Given the description of an element on the screen output the (x, y) to click on. 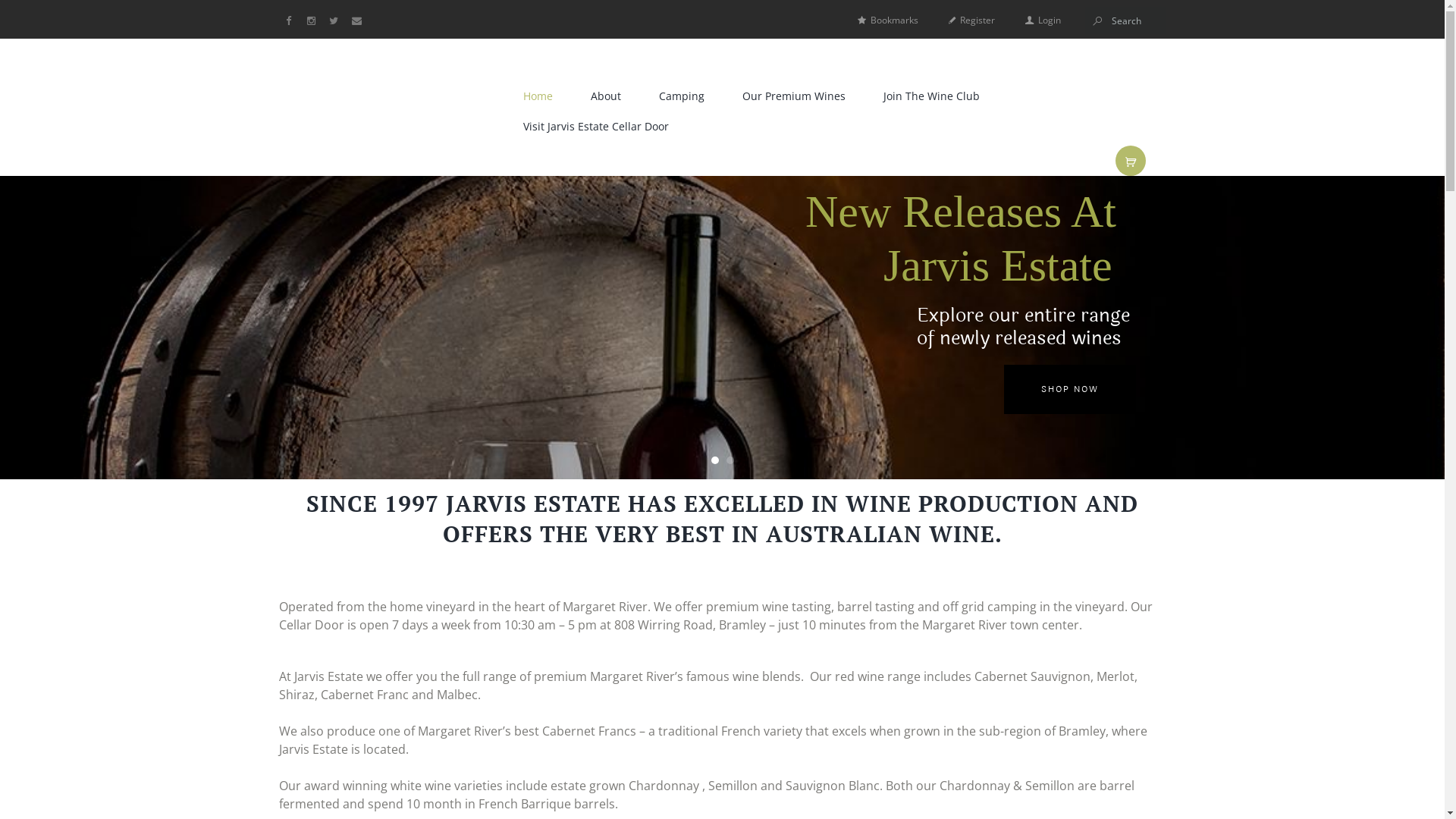
About Element type: text (604, 94)
Login Element type: text (1042, 20)
Register Element type: text (970, 20)
Our Premium Wines Element type: text (792, 94)
Bookmarks Element type: text (886, 20)
Start search Element type: hover (1097, 20)
Join The Wine Club Element type: text (930, 94)
Home Element type: text (537, 94)
Camping Element type: text (680, 94)
Visit Jarvis Estate Cellar Door Element type: text (595, 125)
